Given the description of an element on the screen output the (x, y) to click on. 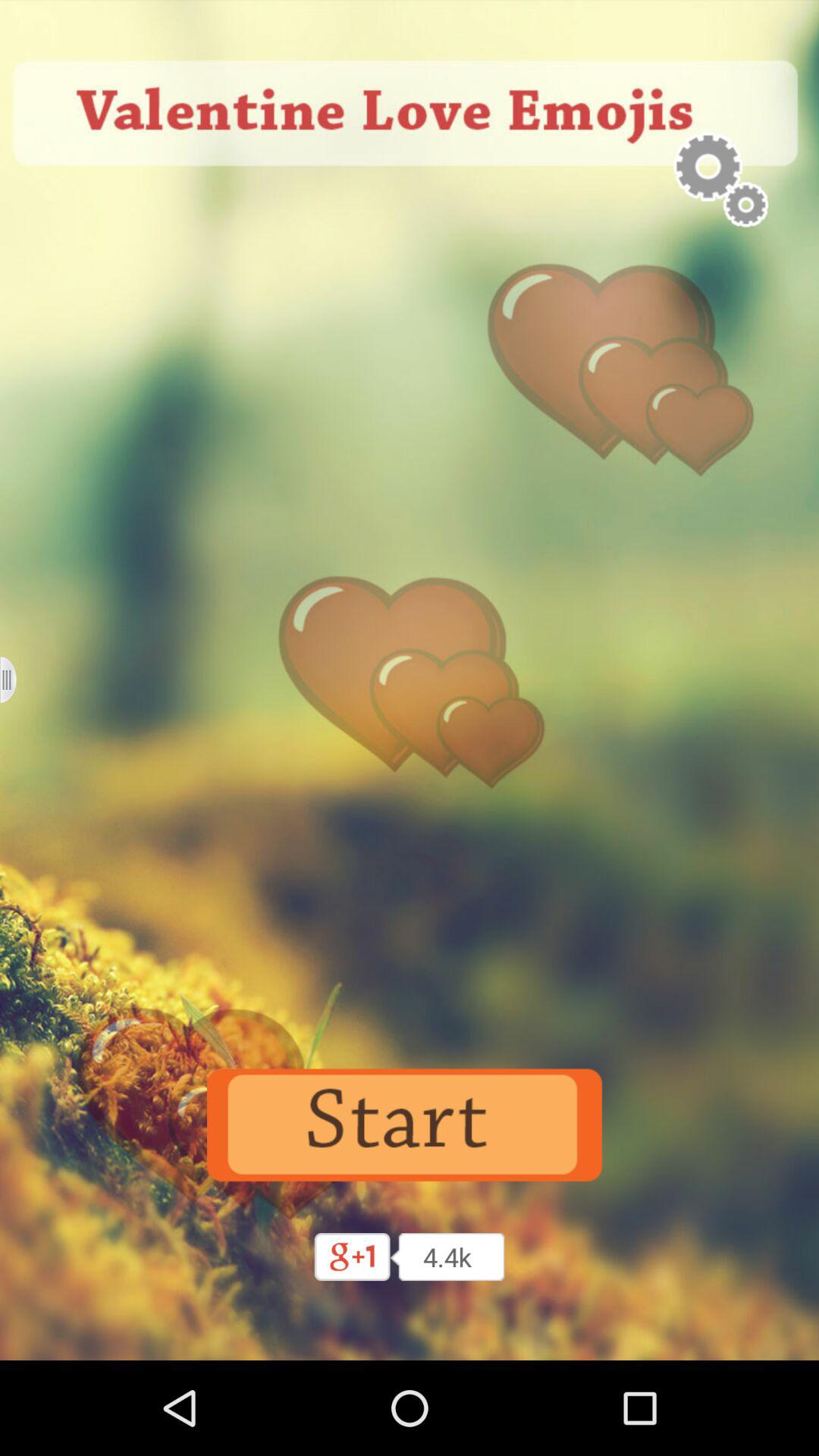
show side bar (18, 679)
